Given the description of an element on the screen output the (x, y) to click on. 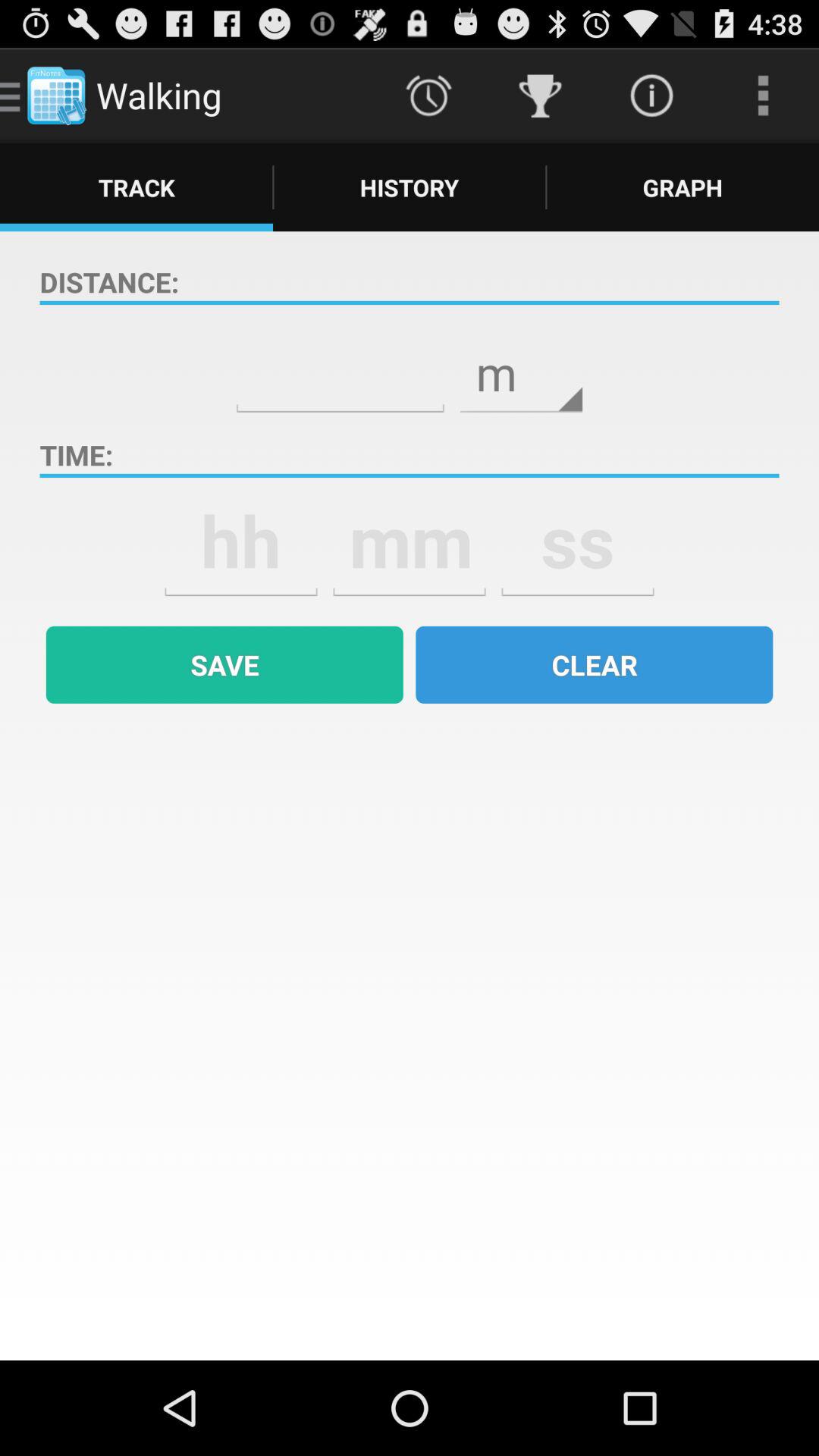
hh (240, 540)
